Given the description of an element on the screen output the (x, y) to click on. 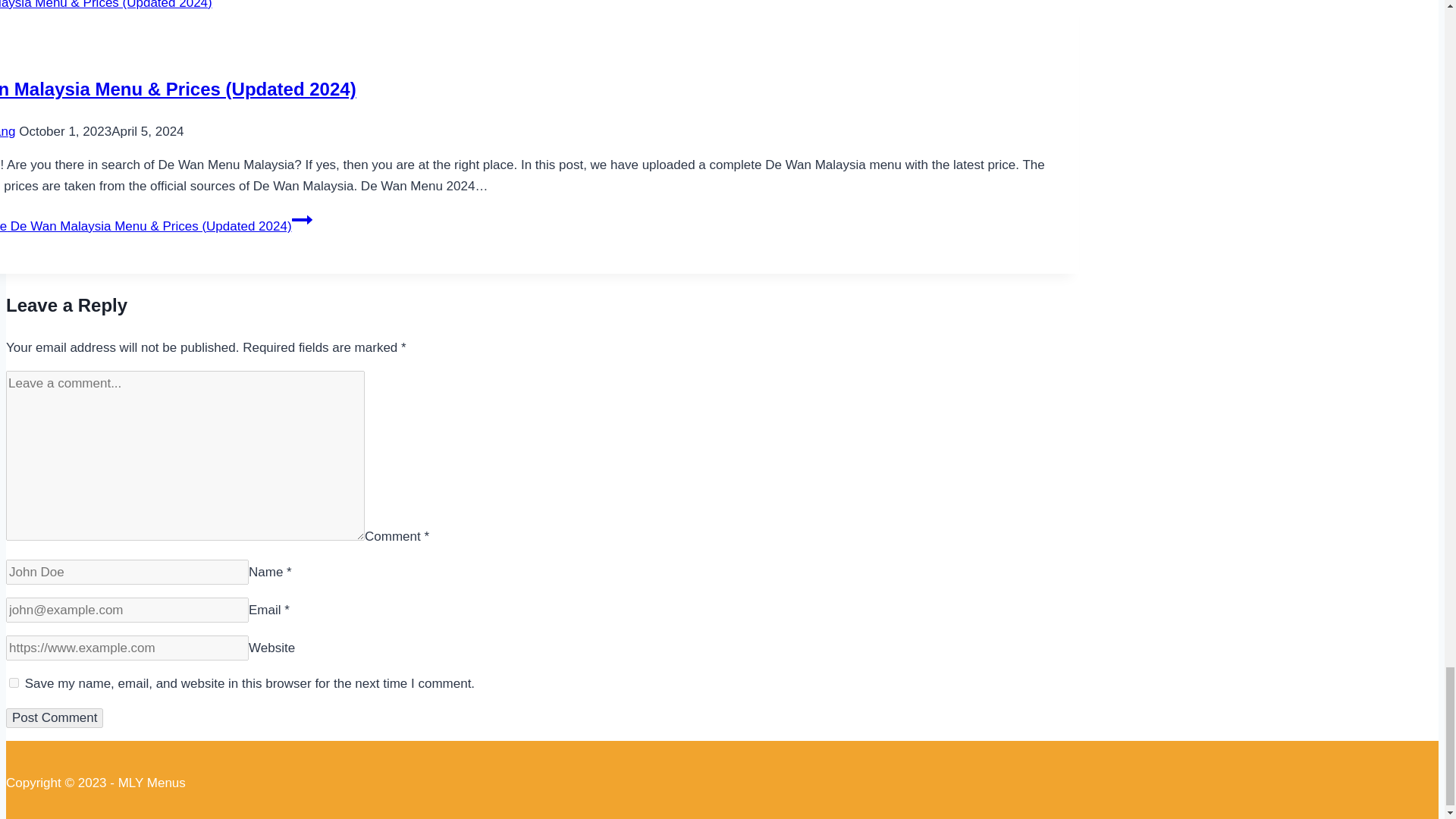
Post Comment (54, 718)
Continue (302, 219)
yes (13, 682)
